Given the description of an element on the screen output the (x, y) to click on. 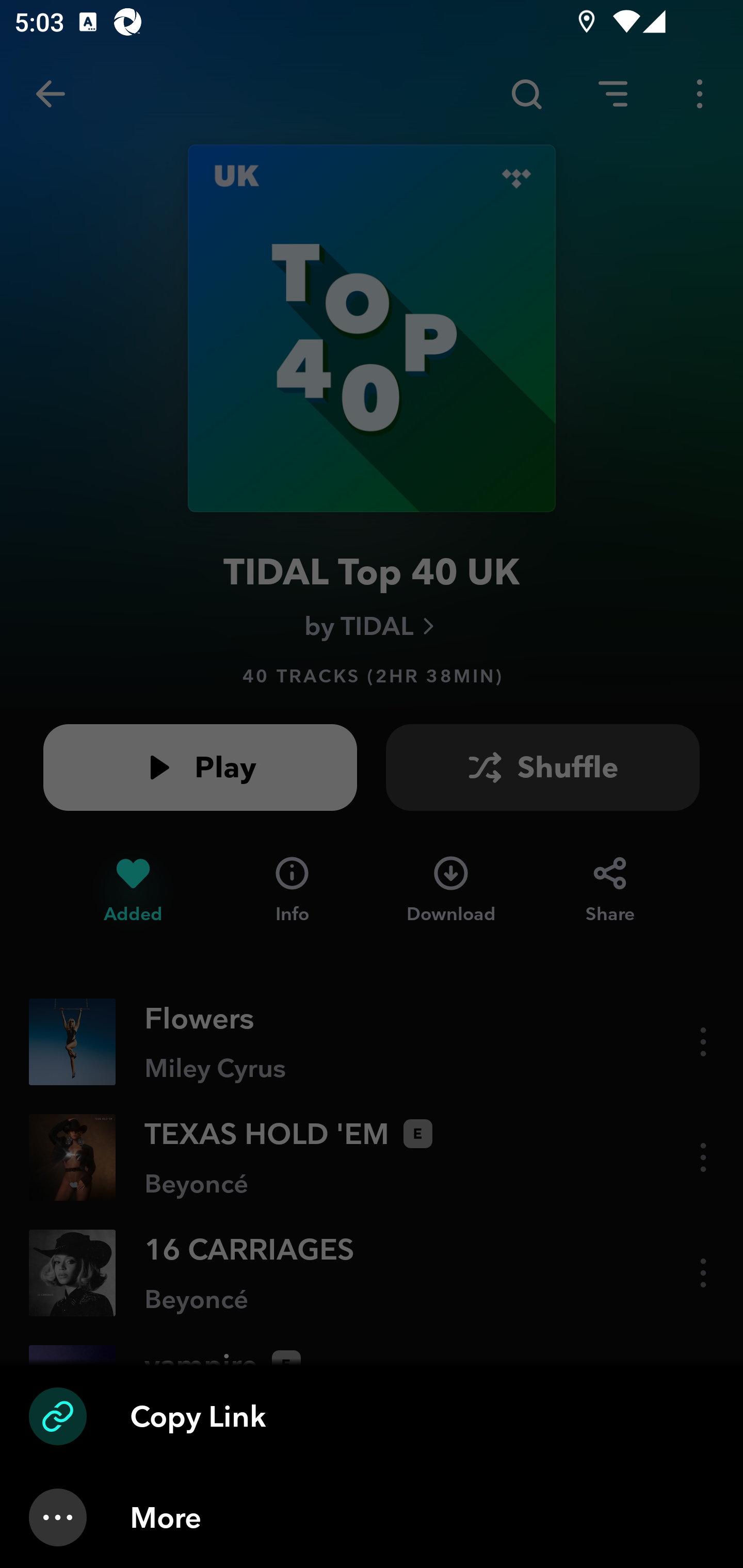
Copy Link (371, 1416)
More (371, 1517)
